Given the description of an element on the screen output the (x, y) to click on. 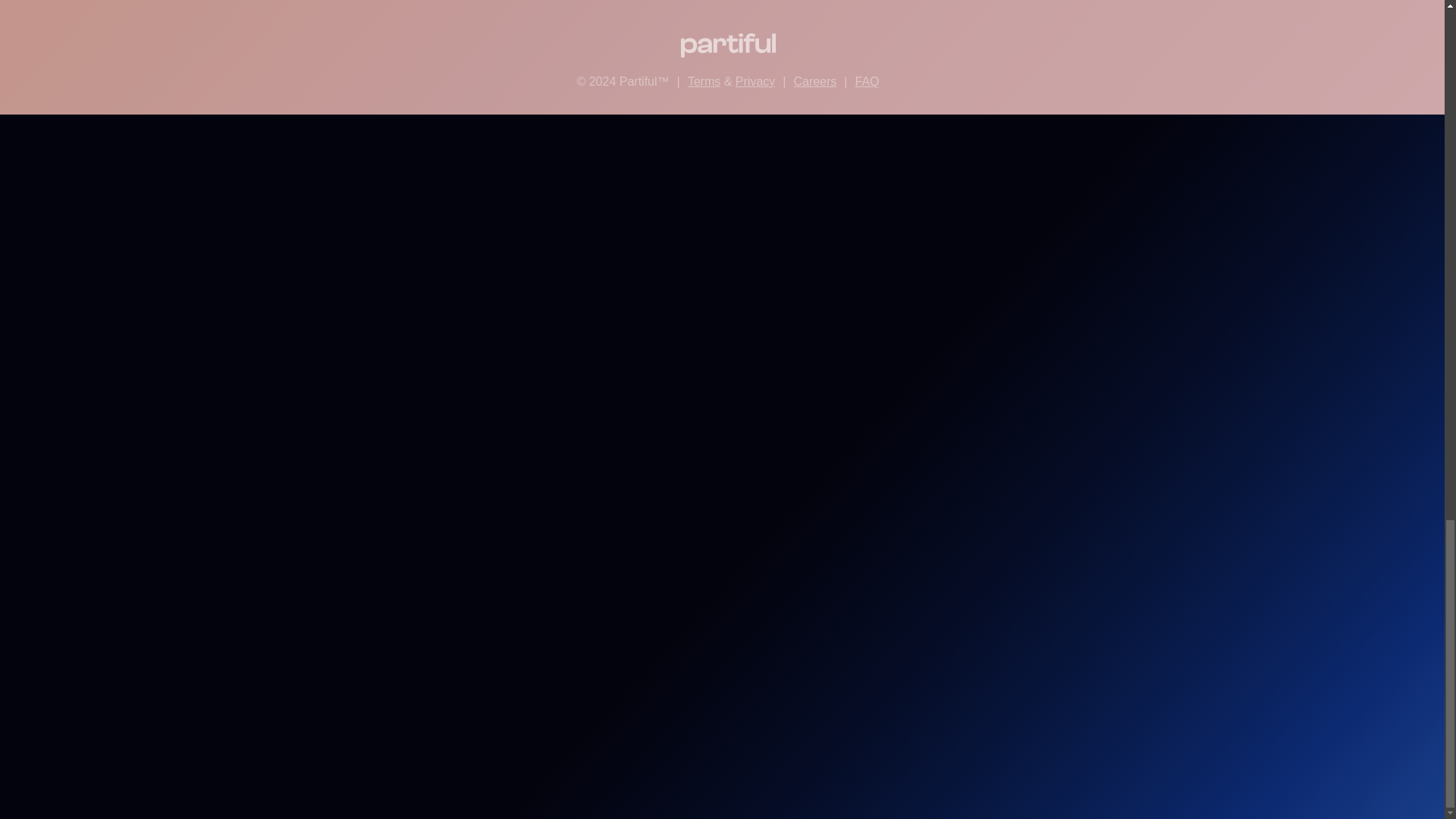
Careers (814, 81)
Terms (703, 81)
Privacy (754, 81)
FAQ (867, 81)
